Given the description of an element on the screen output the (x, y) to click on. 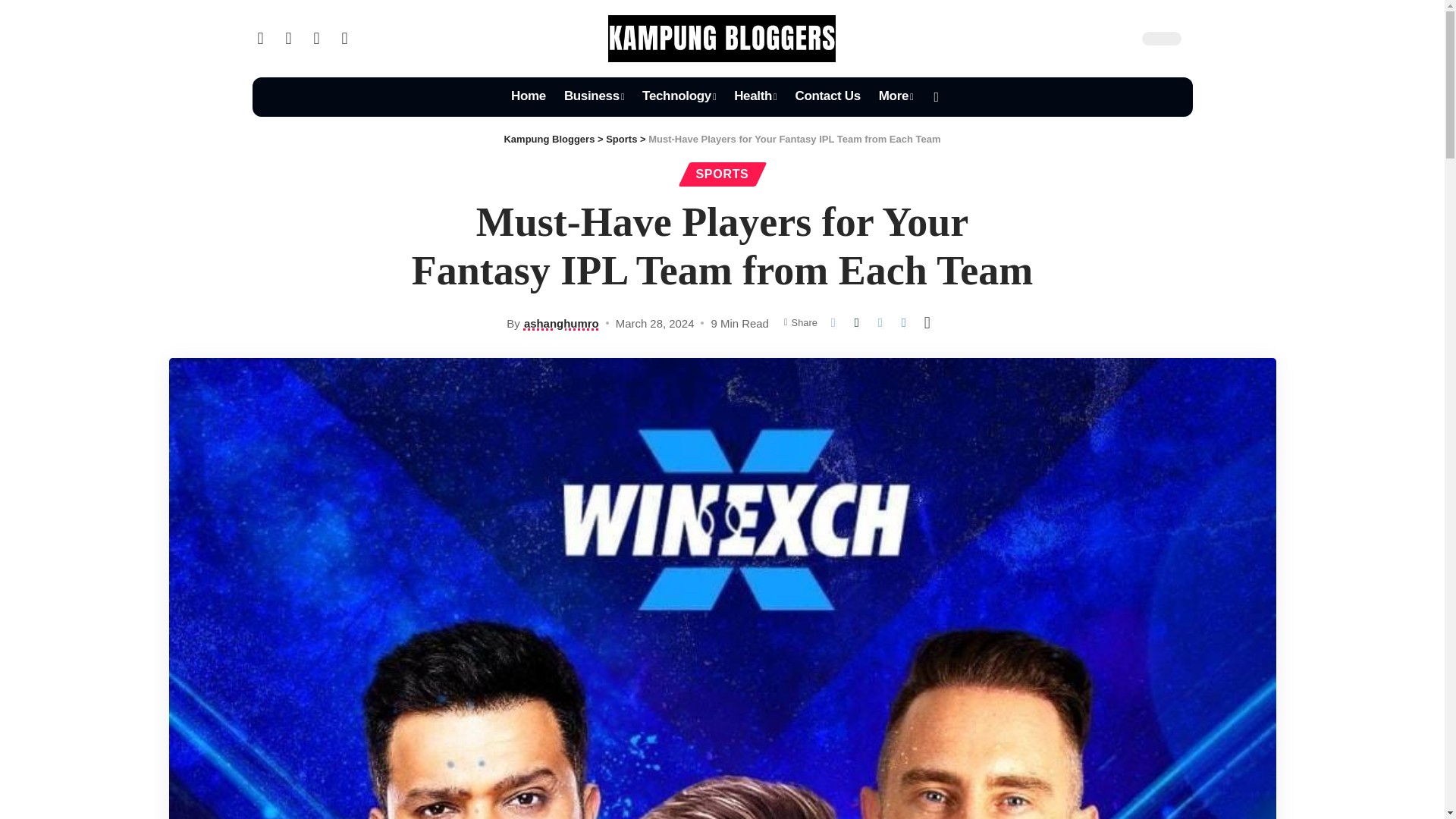
Business (593, 96)
Technology (679, 96)
Home (528, 96)
Health (755, 96)
